Given the description of an element on the screen output the (x, y) to click on. 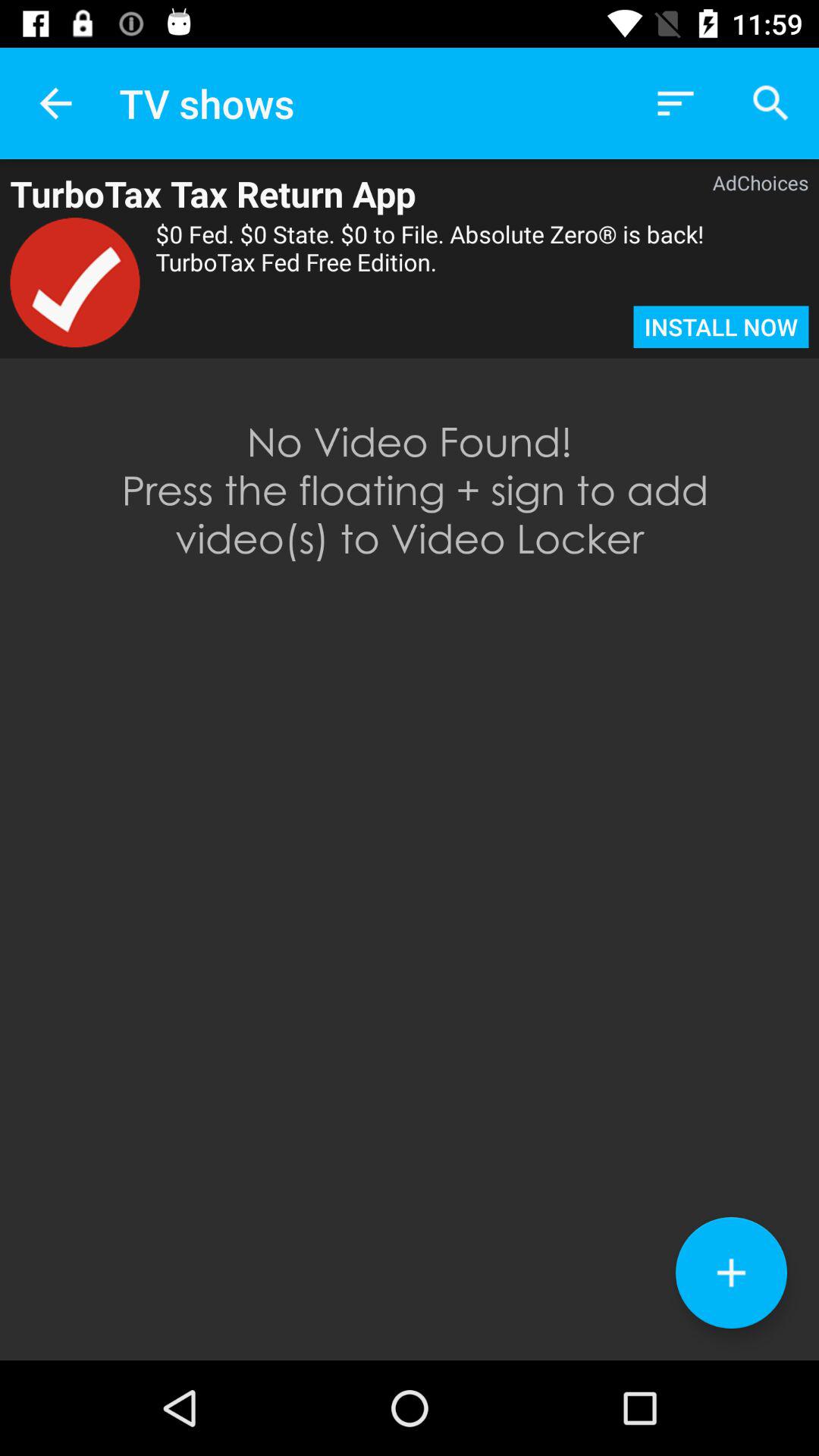
launch icon above turbotax tax return icon (55, 103)
